Given the description of an element on the screen output the (x, y) to click on. 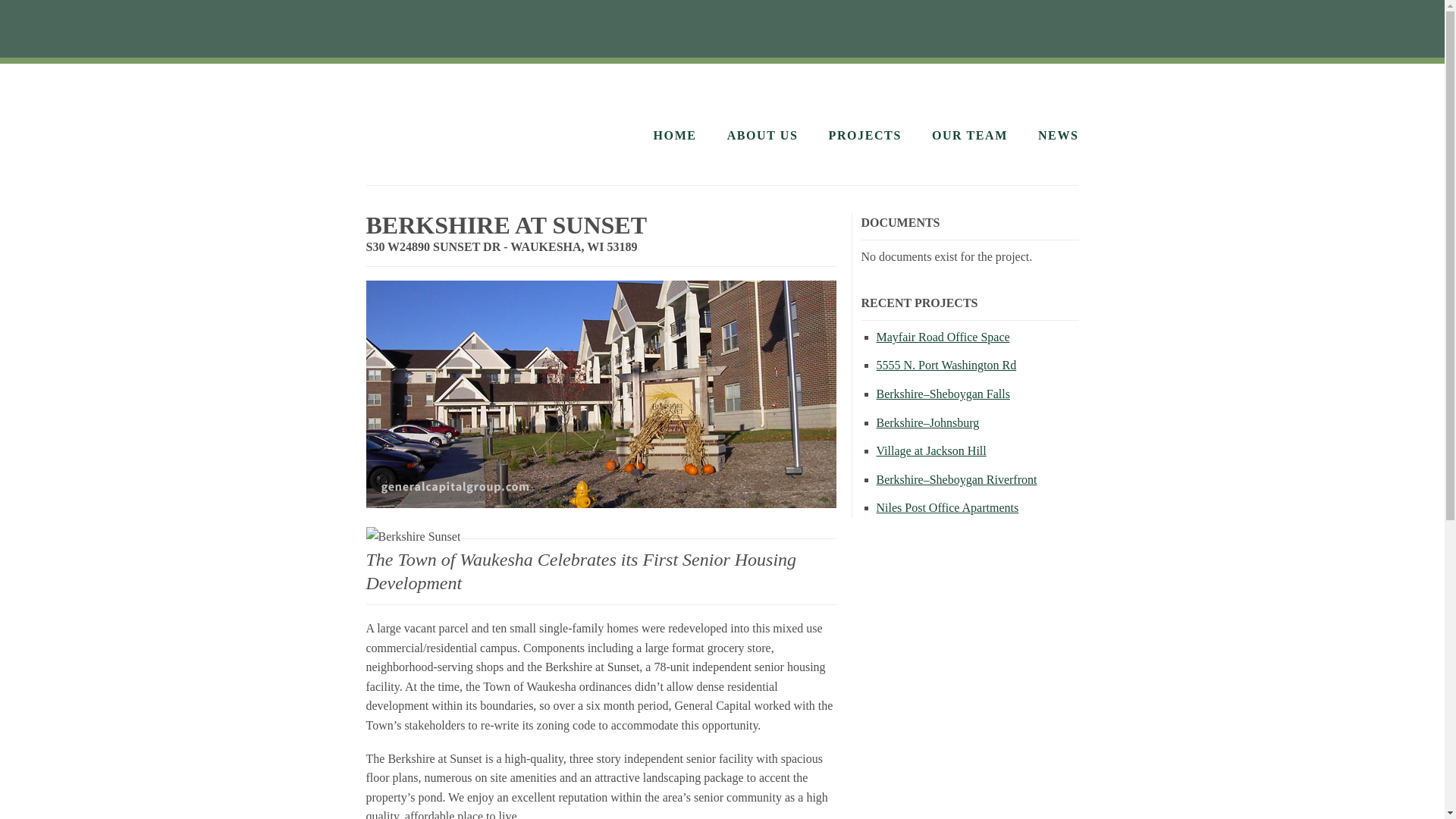
Niles Post Office Apartments (947, 507)
HOME (675, 134)
PROJECTS (864, 134)
Mayfair Road Office Space (943, 336)
GENERAL CAPITAL GROUP (488, 119)
OUR TEAM (969, 134)
ABOUT US (761, 134)
Village at Jackson Hill (931, 450)
5555 N. Port Washington Rd (946, 364)
NEWS (1058, 134)
